Given the description of an element on the screen output the (x, y) to click on. 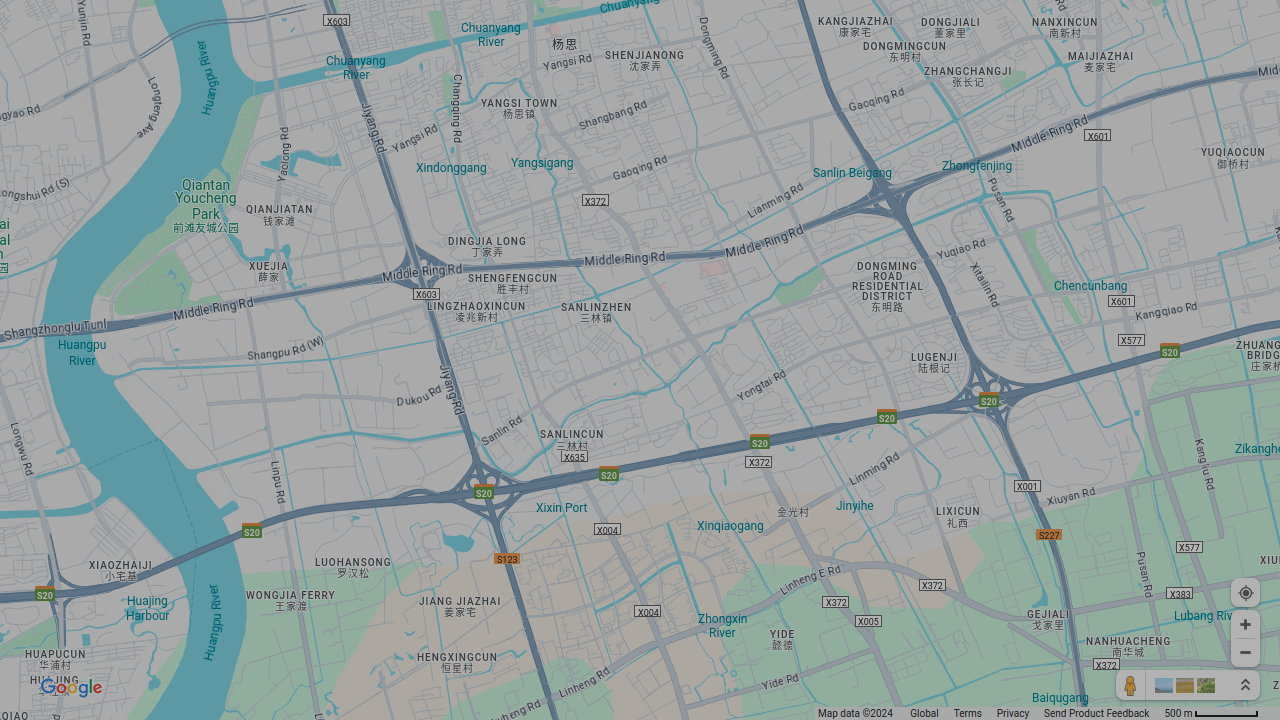
Send Product Feedback Element type: push-button (1097, 713)
500 m Element type: push-button (1211, 713)
Global Element type: push-button (924, 713)
Show Street View coverage Element type: push-button (1131, 685)
Show imagery Element type: push-button (1203, 685)
